Given the description of an element on the screen output the (x, y) to click on. 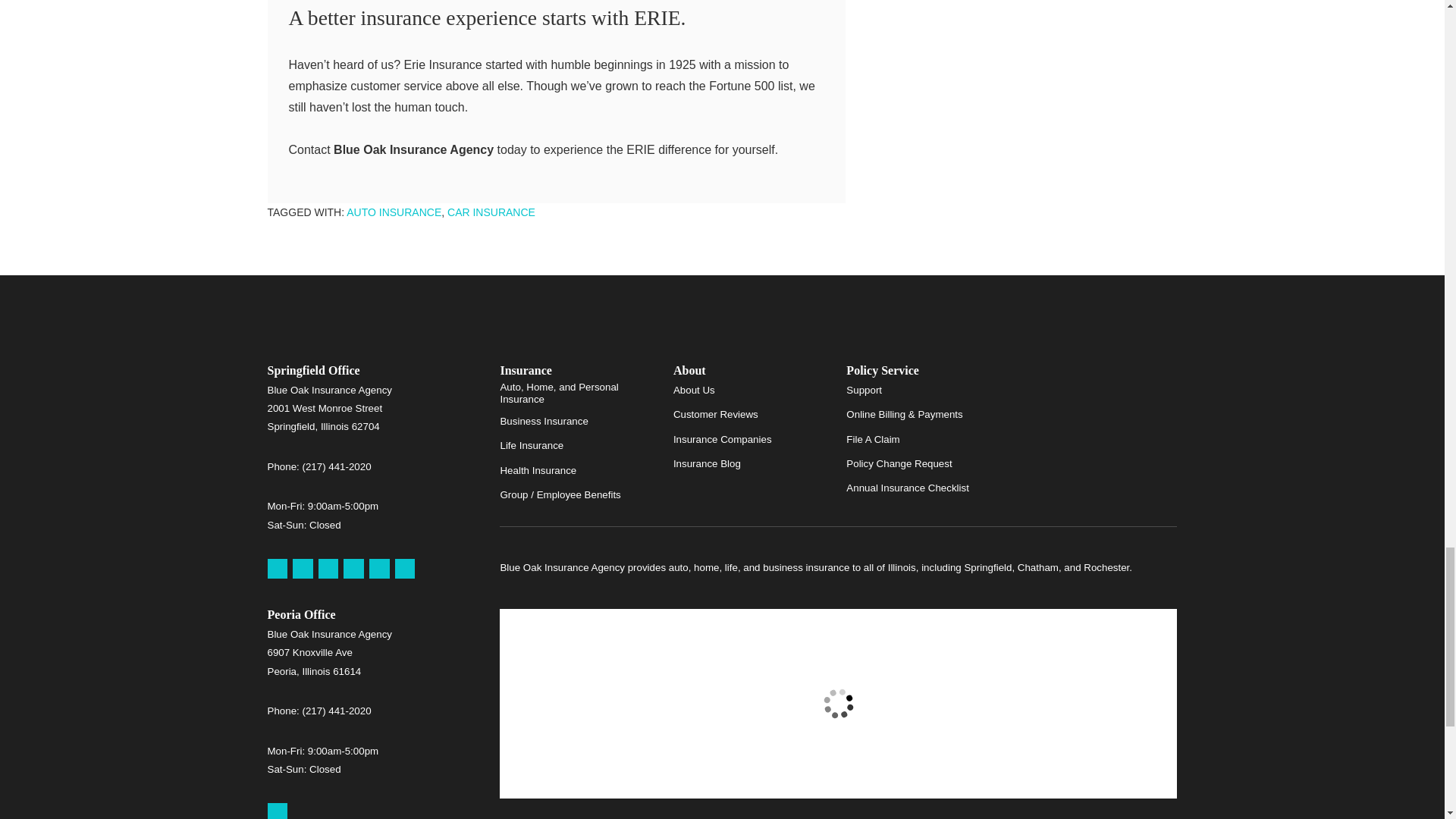
Instagram (404, 568)
Car Insurance (490, 212)
Auto Insurance (393, 212)
Yelp (302, 568)
Google Maps (276, 811)
BBB Accreditation (1098, 389)
Google Maps (276, 568)
LinkedIn (379, 568)
X (353, 568)
Facebook (328, 568)
